Given the description of an element on the screen output the (x, y) to click on. 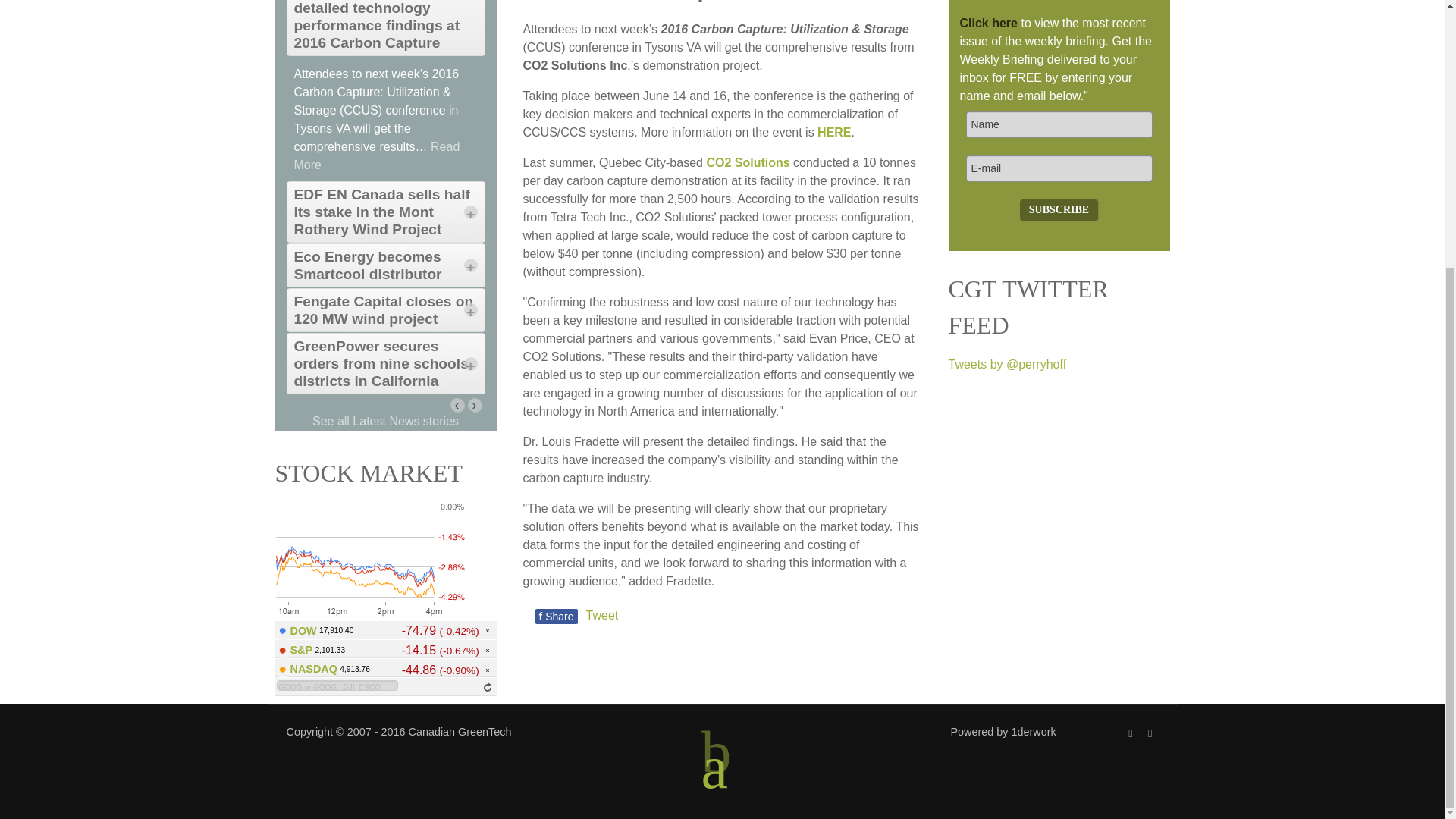
Name (1059, 124)
Read More (377, 155)
1derwork (1034, 731)
E-mail (1059, 168)
E-mail (1059, 168)
GOOG or GOOG, .DJI, CSCO (336, 685)
Canadian GreenTech (460, 731)
Name (1059, 124)
Subscribe (1058, 209)
